Given the description of an element on the screen output the (x, y) to click on. 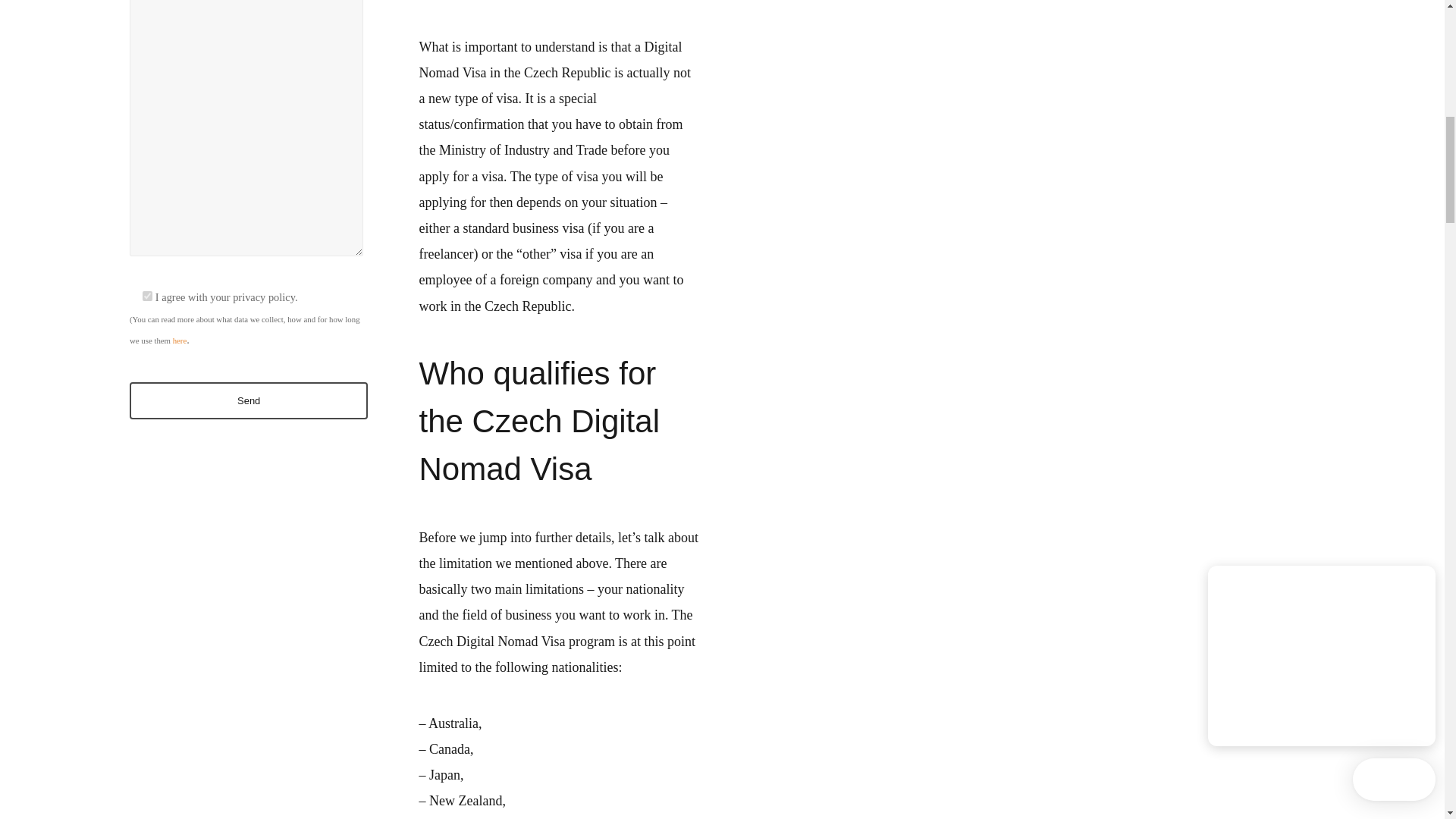
Send (248, 400)
here (180, 339)
Send (248, 400)
1 (147, 296)
